Given the description of an element on the screen output the (x, y) to click on. 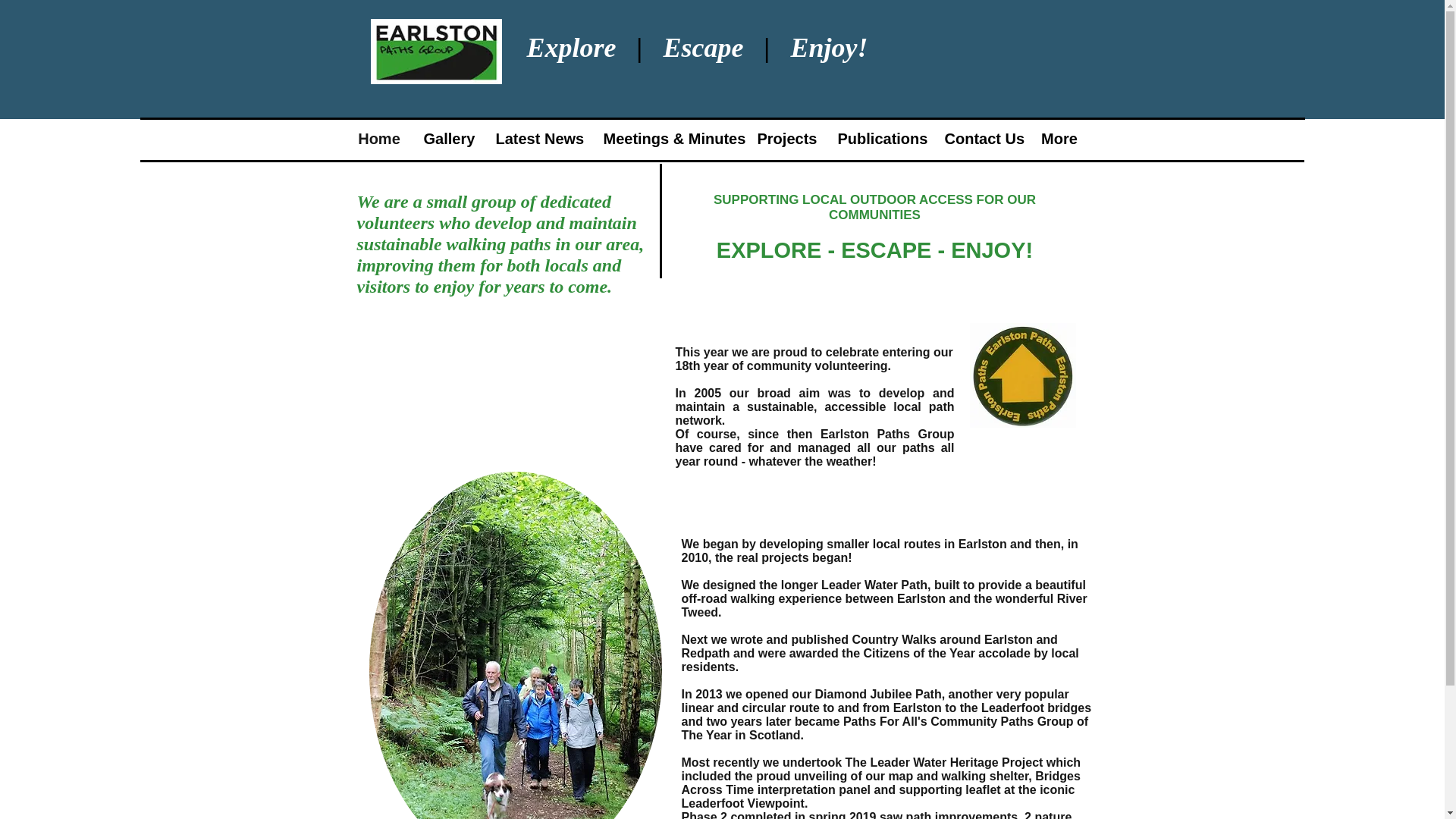
Gallery (448, 138)
Home (379, 138)
Contact Us (981, 138)
Publications (880, 138)
Projects (786, 138)
Latest News (537, 138)
